Given the description of an element on the screen output the (x, y) to click on. 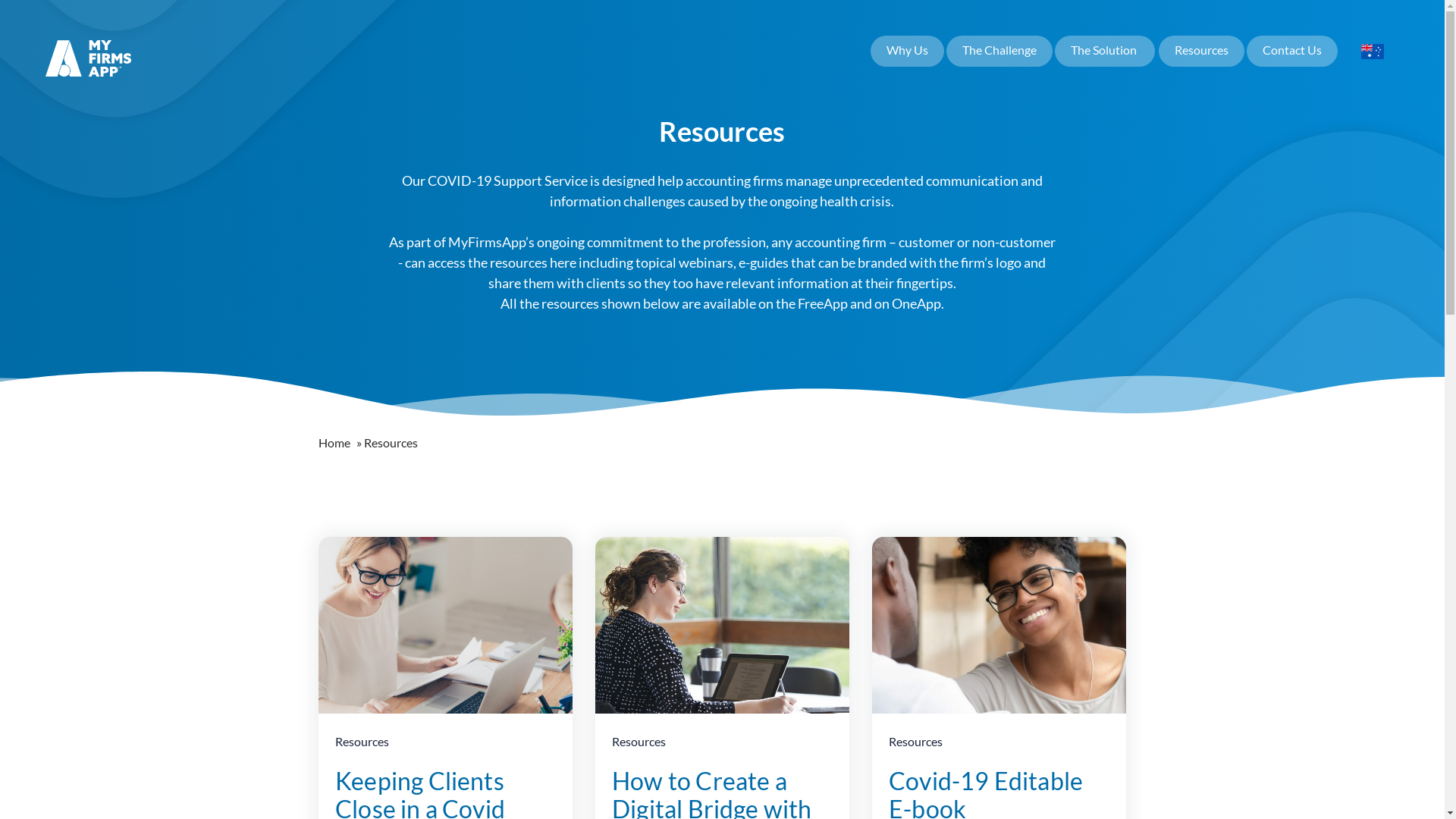
Why Us Element type: text (907, 51)
Skip to the content Element type: text (89, 48)
Resources Element type: text (362, 742)
The Solution Element type: text (1103, 51)
Contact Us Element type: text (1291, 51)
Resources Element type: text (1201, 51)
Resources Element type: text (915, 742)
The Challenge Element type: text (999, 51)
Resources Element type: text (638, 742)
MyFirmsApp Element type: text (88, 56)
Home Element type: text (336, 442)
